Given the description of an element on the screen output the (x, y) to click on. 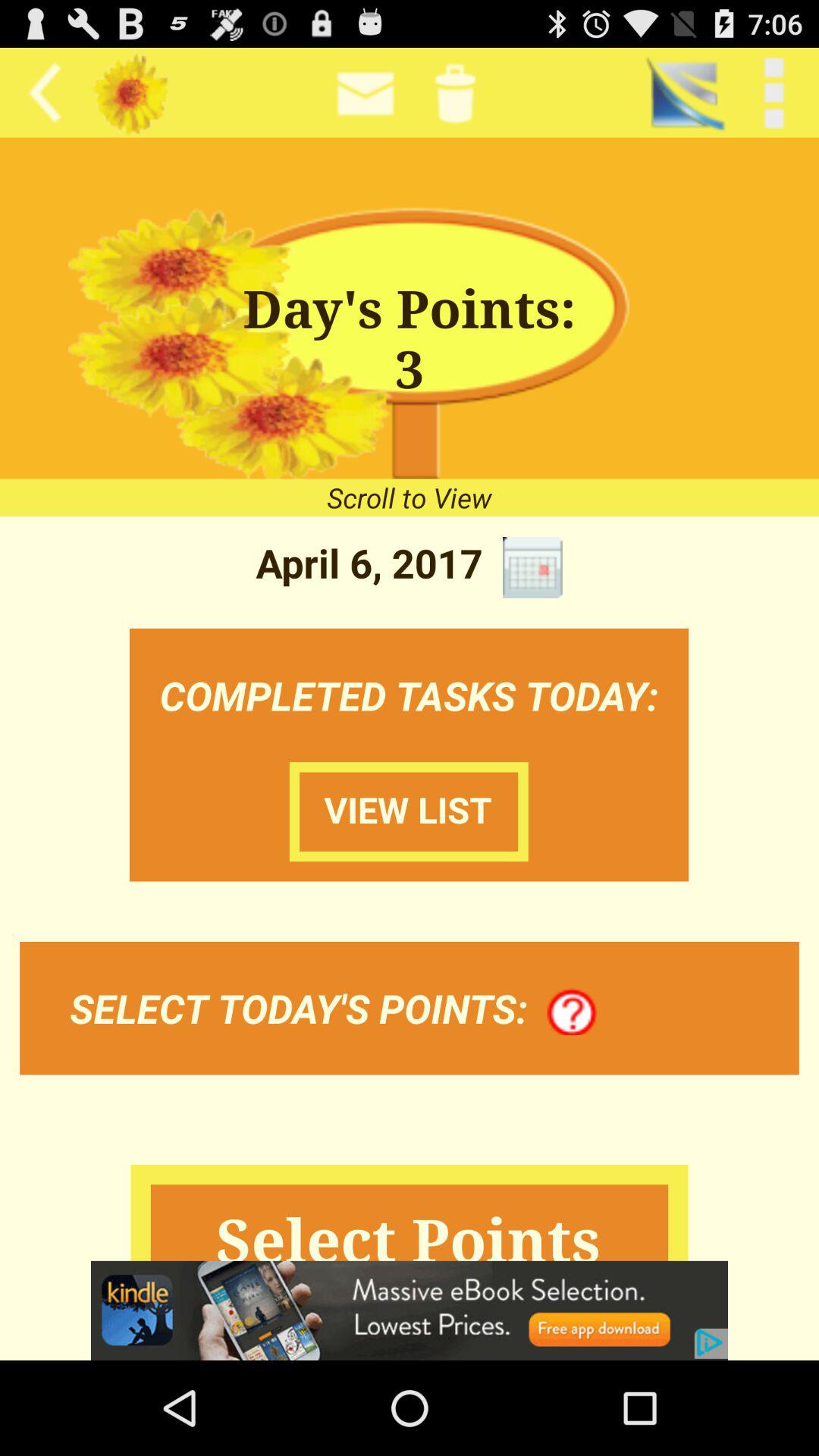
advertisement (409, 1310)
